Given the description of an element on the screen output the (x, y) to click on. 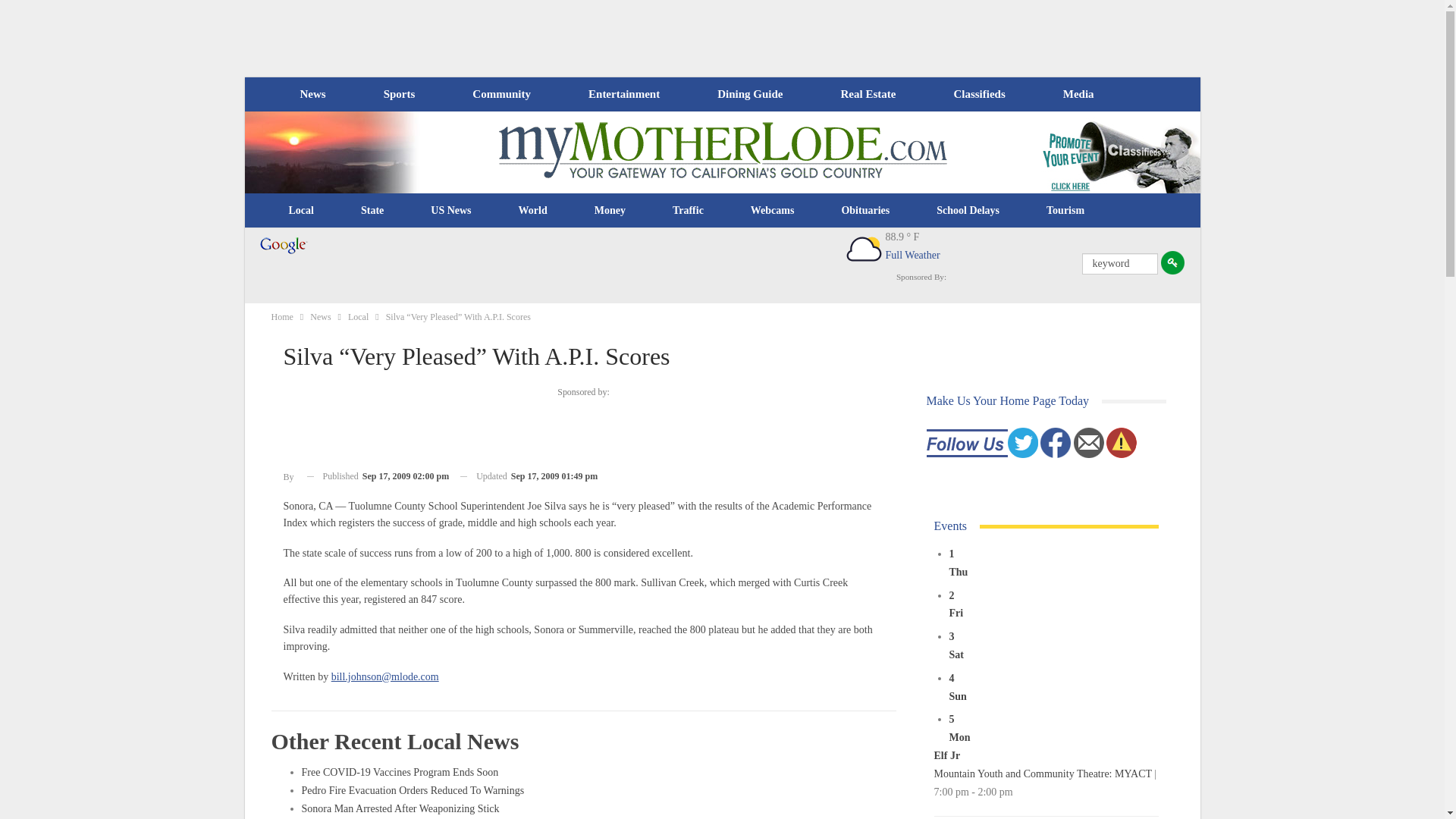
Classifieds (979, 93)
keyword (1119, 263)
Media (1078, 93)
Real Estate (868, 93)
Sports (399, 93)
School Delays (967, 210)
Tourism (1065, 210)
Entertainment (624, 93)
Community (501, 93)
US News (451, 210)
Local (300, 210)
